Given the description of an element on the screen output the (x, y) to click on. 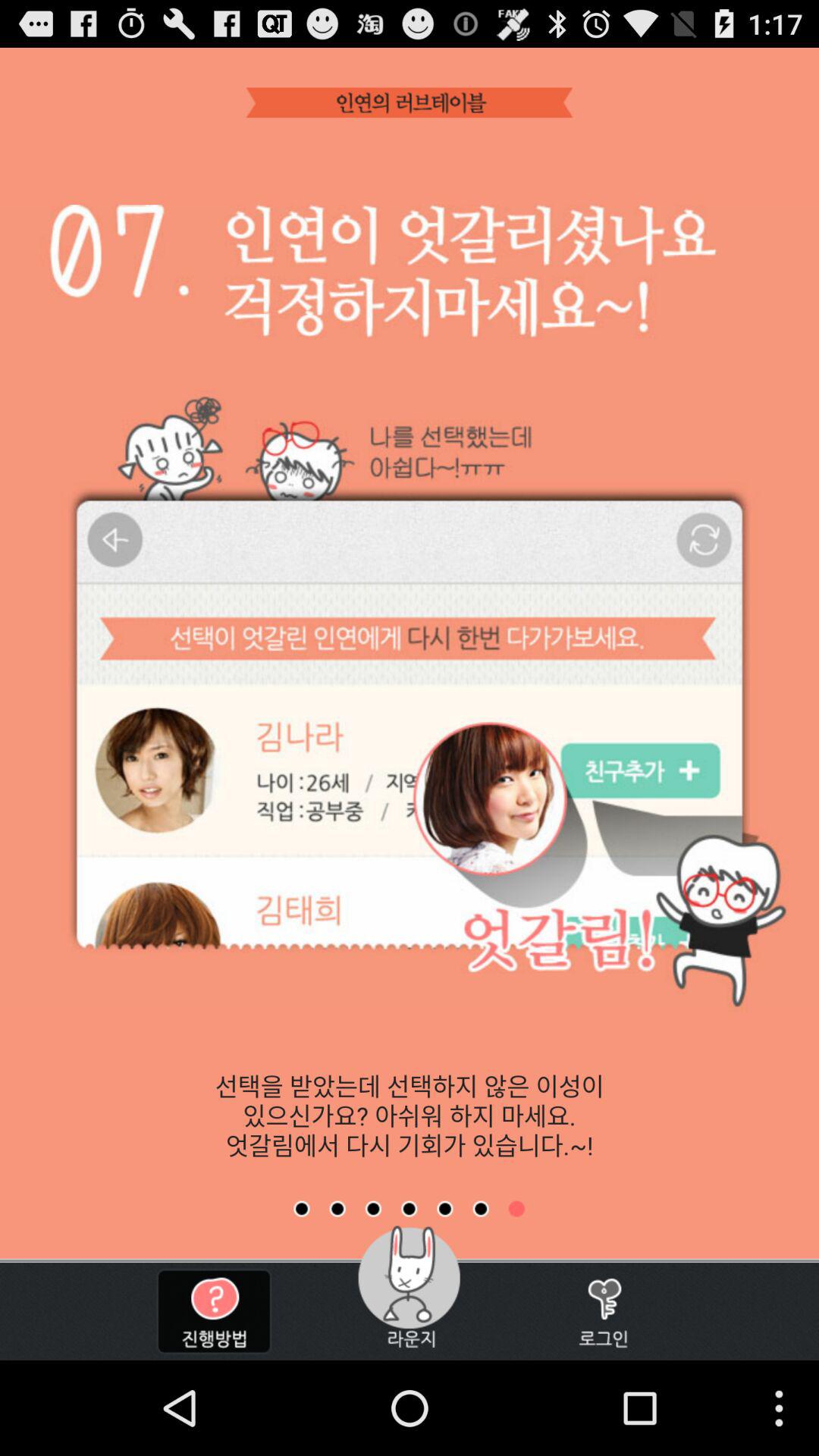
open the button at the bottom right corner (604, 1311)
